Given the description of an element on the screen output the (x, y) to click on. 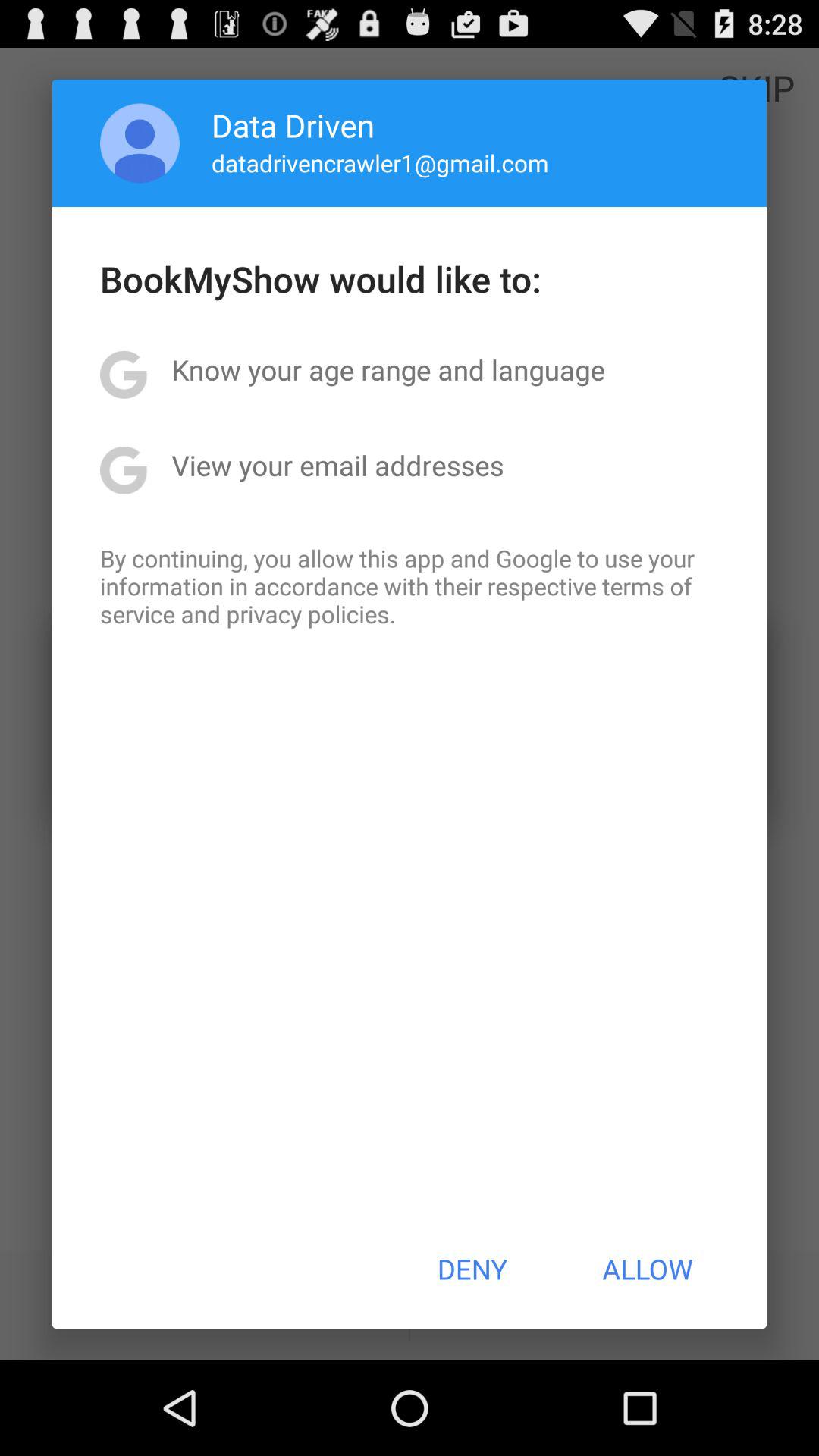
flip to view your email app (337, 465)
